Given the description of an element on the screen output the (x, y) to click on. 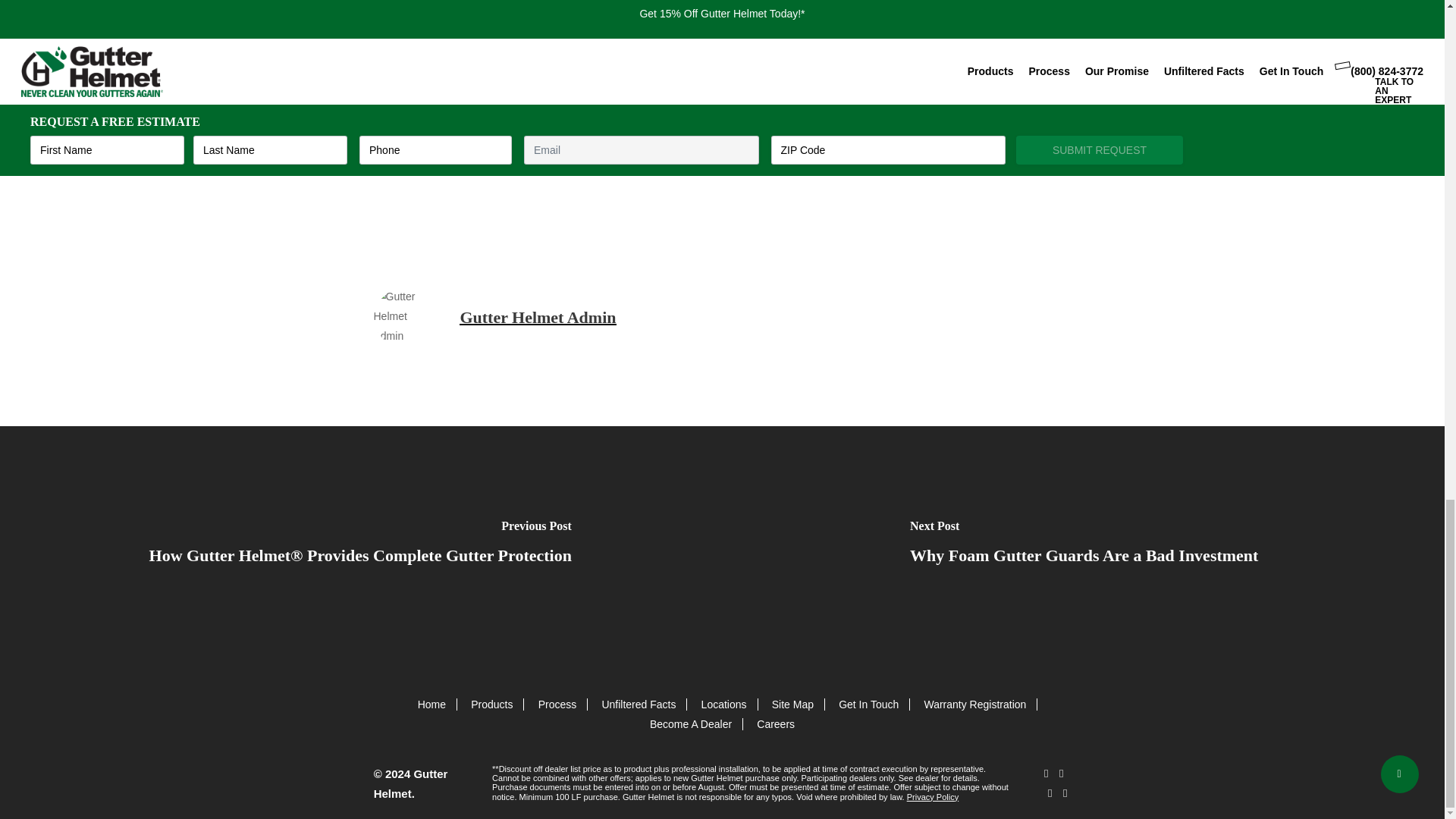
Get In Touch (868, 704)
Gutter Helmet Admin (537, 316)
Privacy Policy (932, 796)
Site Map (792, 704)
Unfiltered Facts (638, 704)
Home (431, 704)
Process (557, 704)
Products (491, 704)
gutter protection products (833, 137)
Warranty Registration (974, 704)
